Given the description of an element on the screen output the (x, y) to click on. 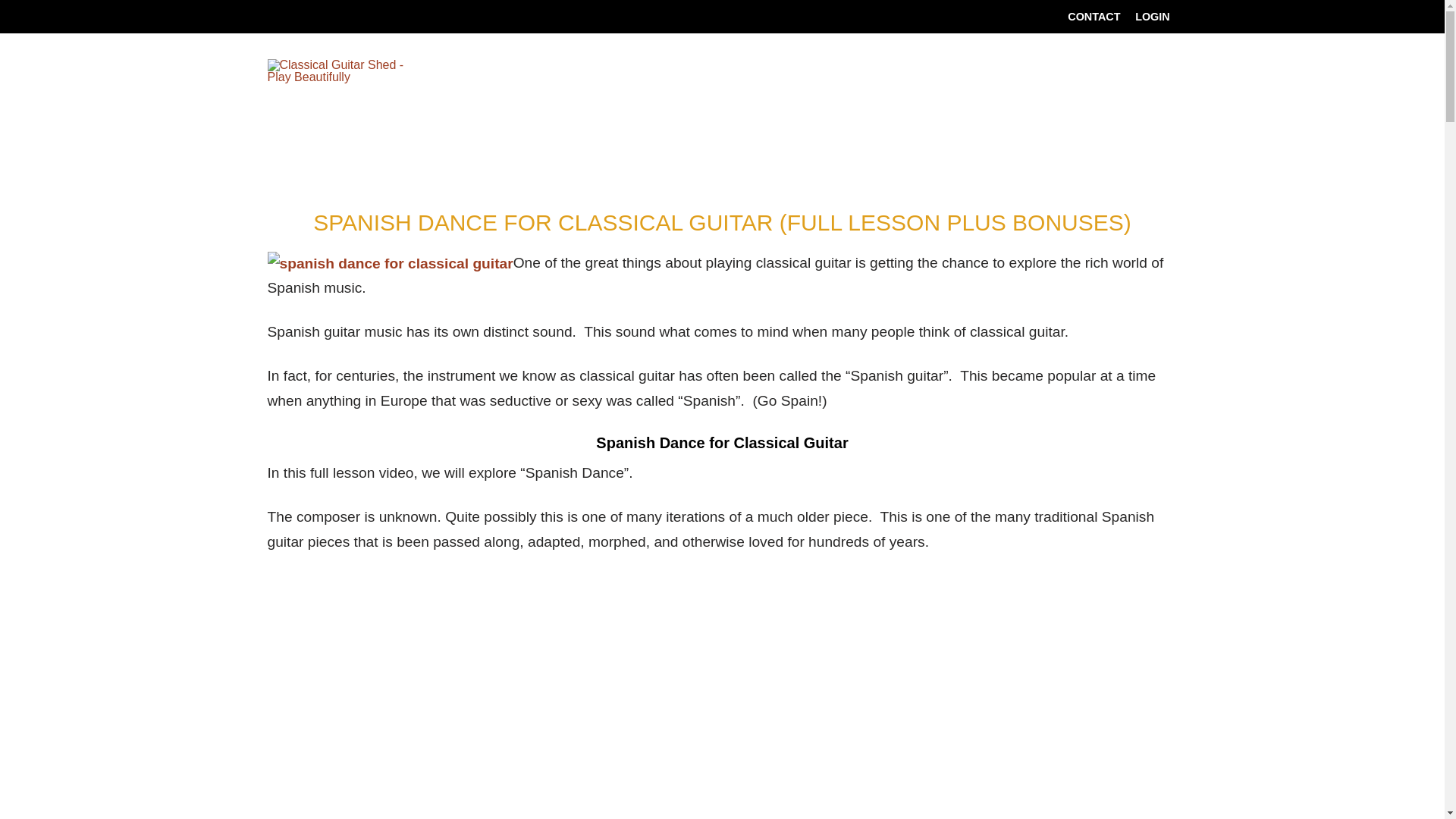
ABOUT (1138, 124)
START HERE (730, 124)
FREE RESOURCES (1021, 124)
COURSE DETAILS (865, 124)
CONTACT (1092, 16)
LOGIN (1151, 16)
